Given the description of an element on the screen output the (x, y) to click on. 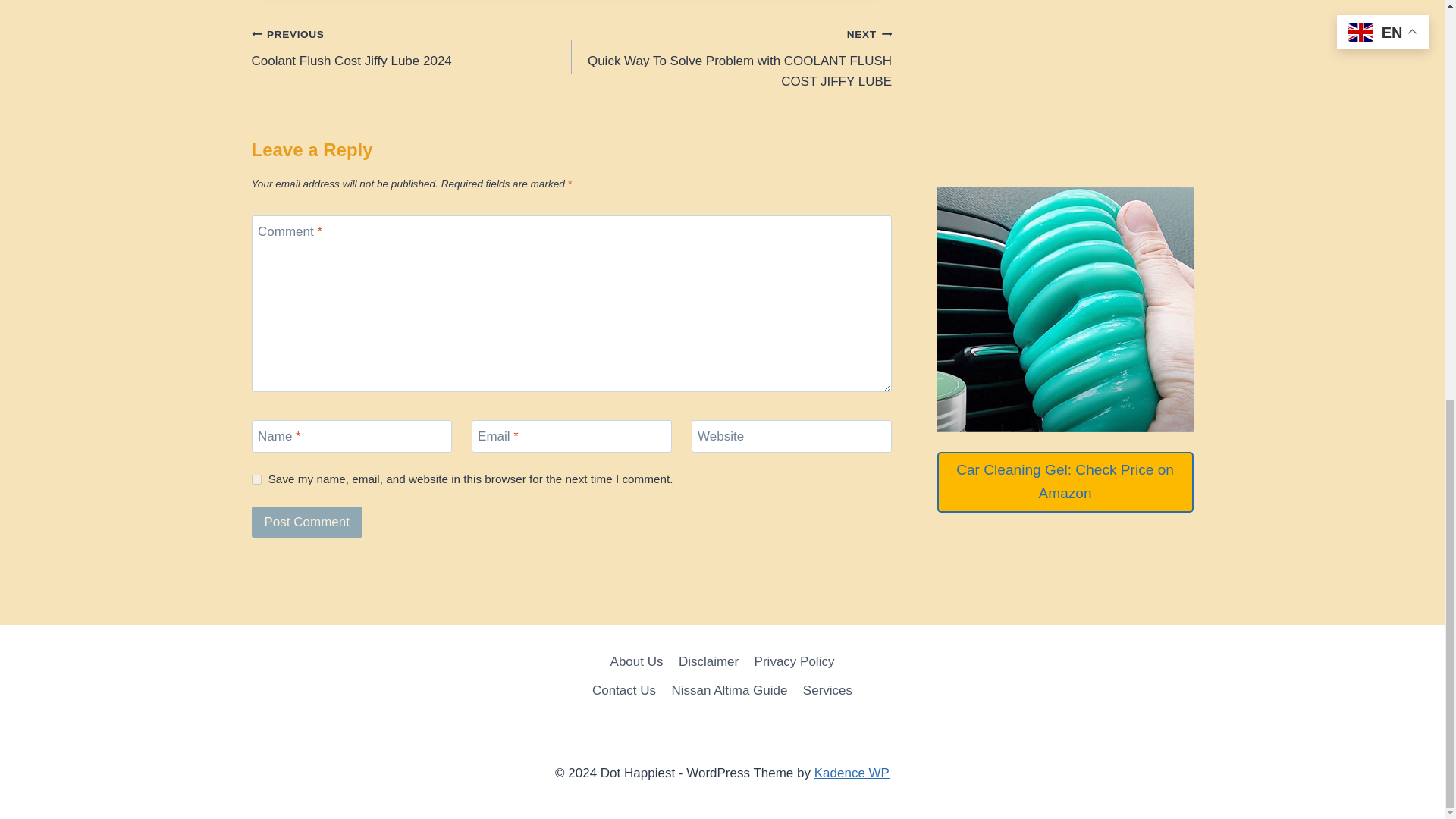
Post Comment (306, 521)
yes (256, 479)
Advertisement (1065, 35)
